Given the description of an element on the screen output the (x, y) to click on. 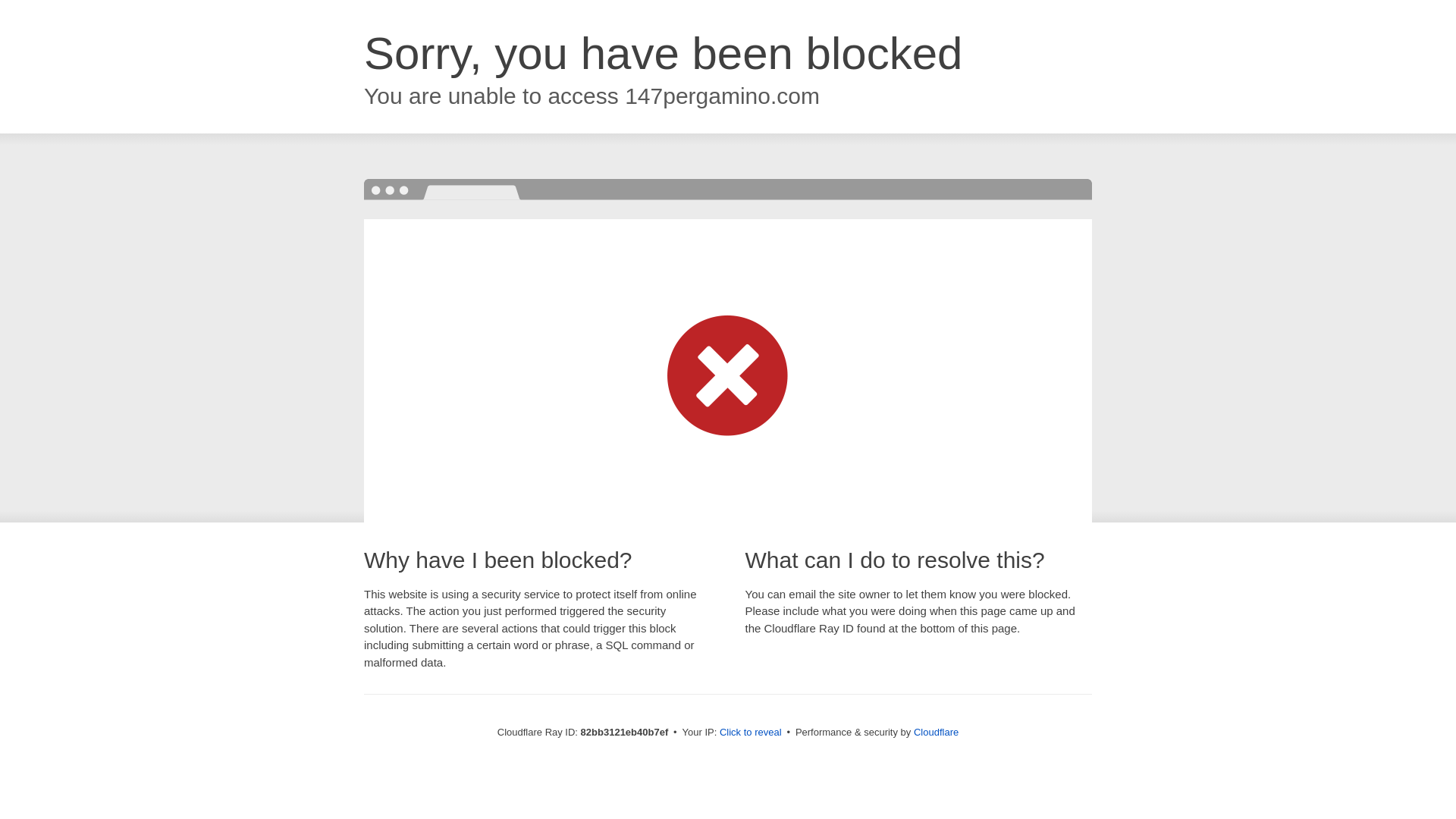
Click to reveal Element type: text (750, 732)
Cloudflare Element type: text (935, 731)
